Given the description of an element on the screen output the (x, y) to click on. 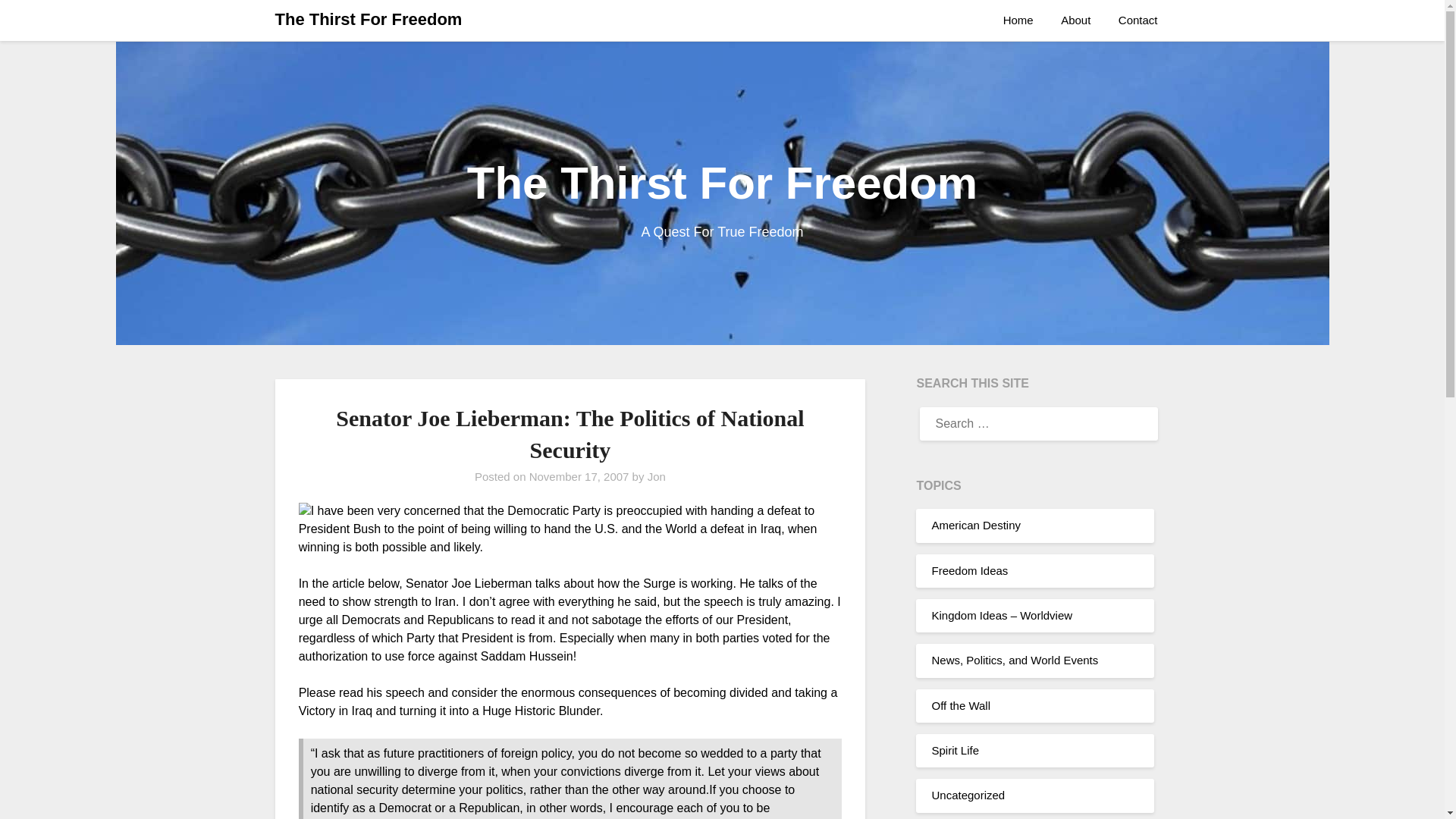
November 17, 2007 (578, 476)
American Destiny (975, 524)
Spirit Life (954, 749)
Jon (656, 476)
Search (38, 22)
Uncategorized (967, 794)
Contact (1138, 20)
Freedom Ideas (969, 570)
The Thirst For Freedom (368, 19)
Home (1024, 20)
About (1075, 20)
Off the Wall (960, 705)
News, Politics, and World Events (1014, 659)
